Given the description of an element on the screen output the (x, y) to click on. 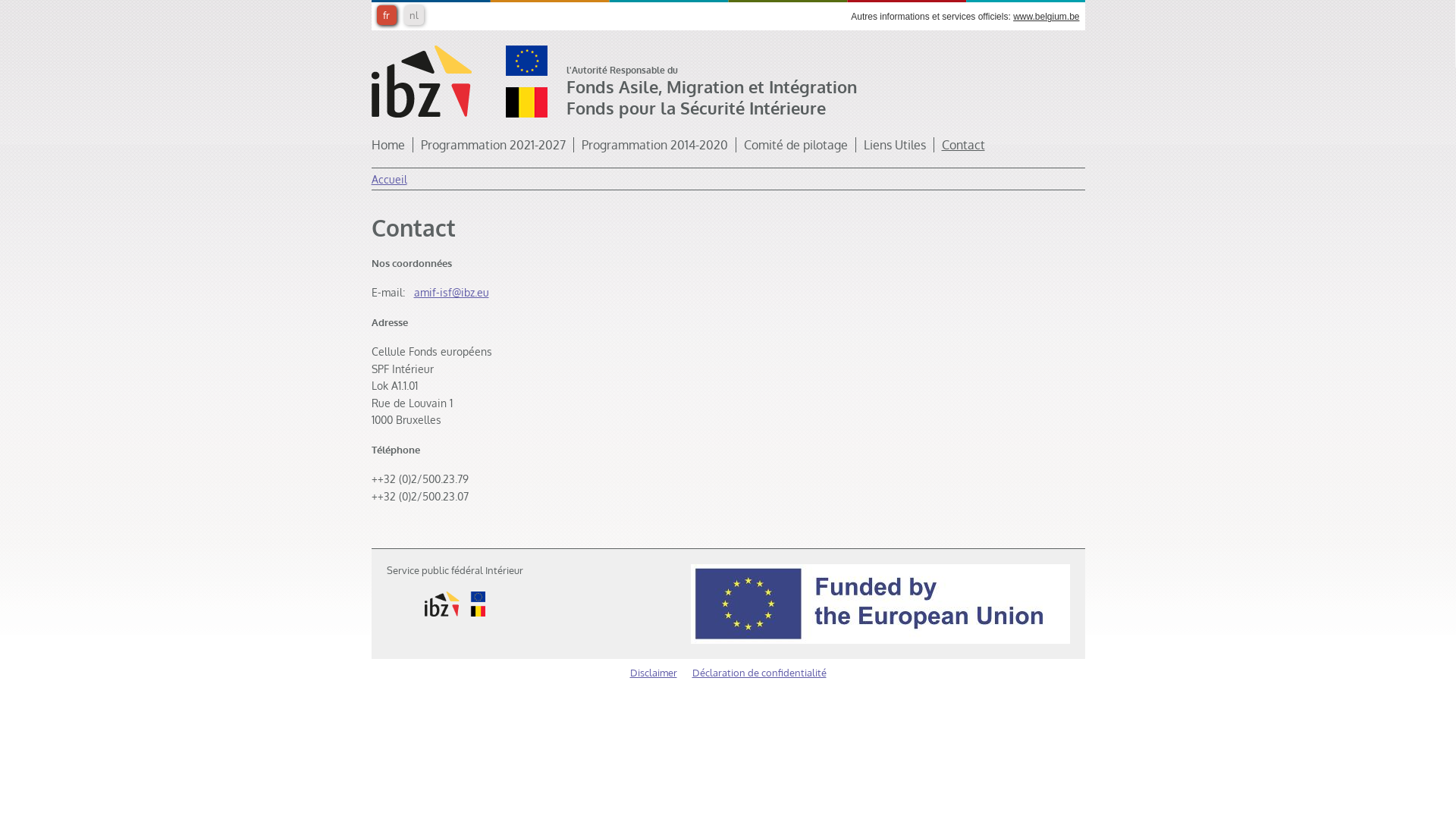
Home Element type: text (392, 144)
Disclaimer Element type: text (652, 672)
Programmation 2014-2020 Element type: text (657, 144)
Contact Element type: text (963, 144)
fr Element type: text (385, 15)
Accueil Element type: text (389, 178)
amif-isf@ibz.eu Element type: text (451, 291)
Liens Utiles Element type: text (897, 144)
Programmation 2021-2027 Element type: text (496, 144)
www.belgium.be Element type: text (1046, 16)
nl Element type: text (413, 15)
